Given the description of an element on the screen output the (x, y) to click on. 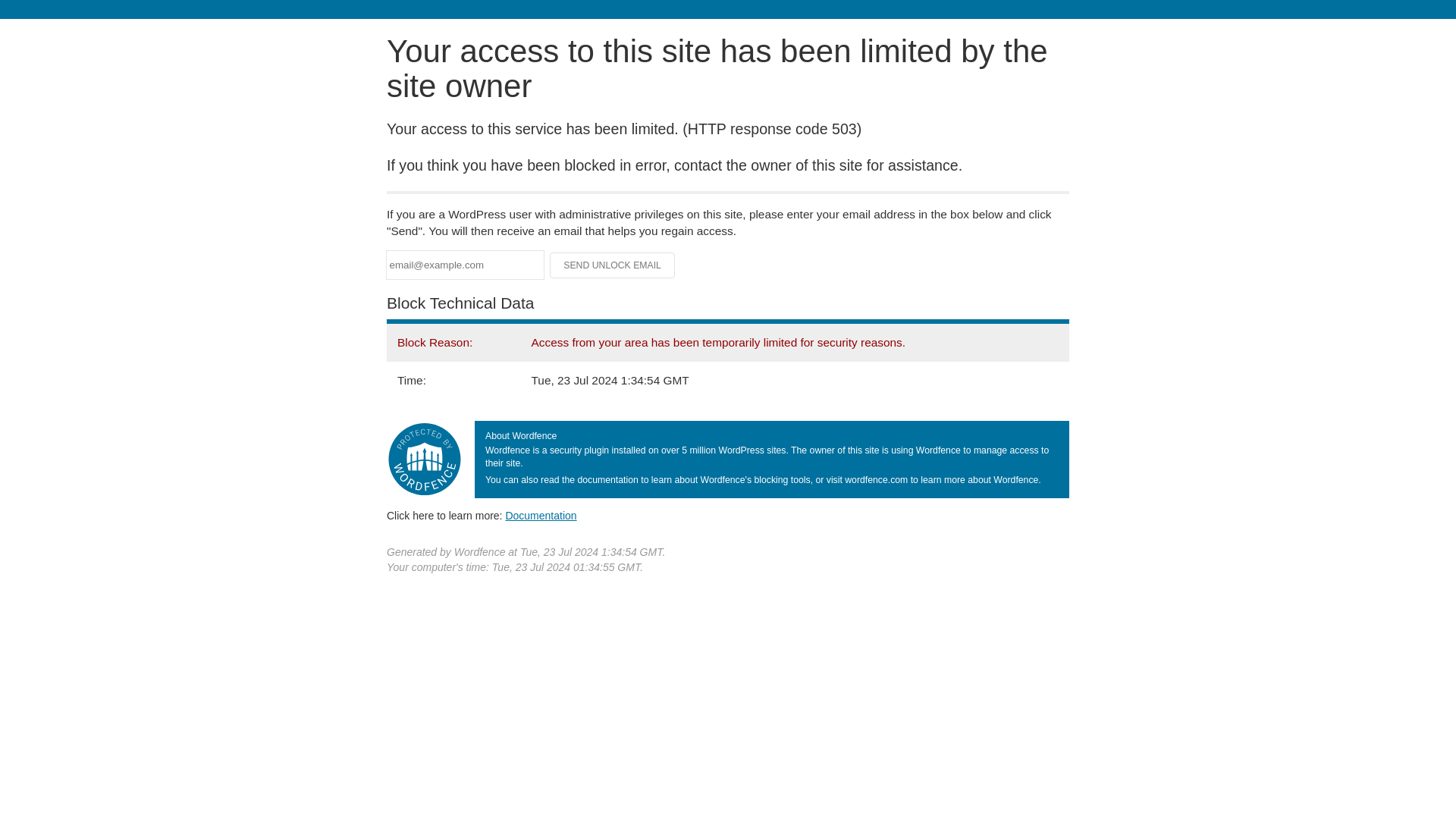
Send Unlock Email (612, 265)
Send Unlock Email (612, 265)
Documentation (540, 515)
